Given the description of an element on the screen output the (x, y) to click on. 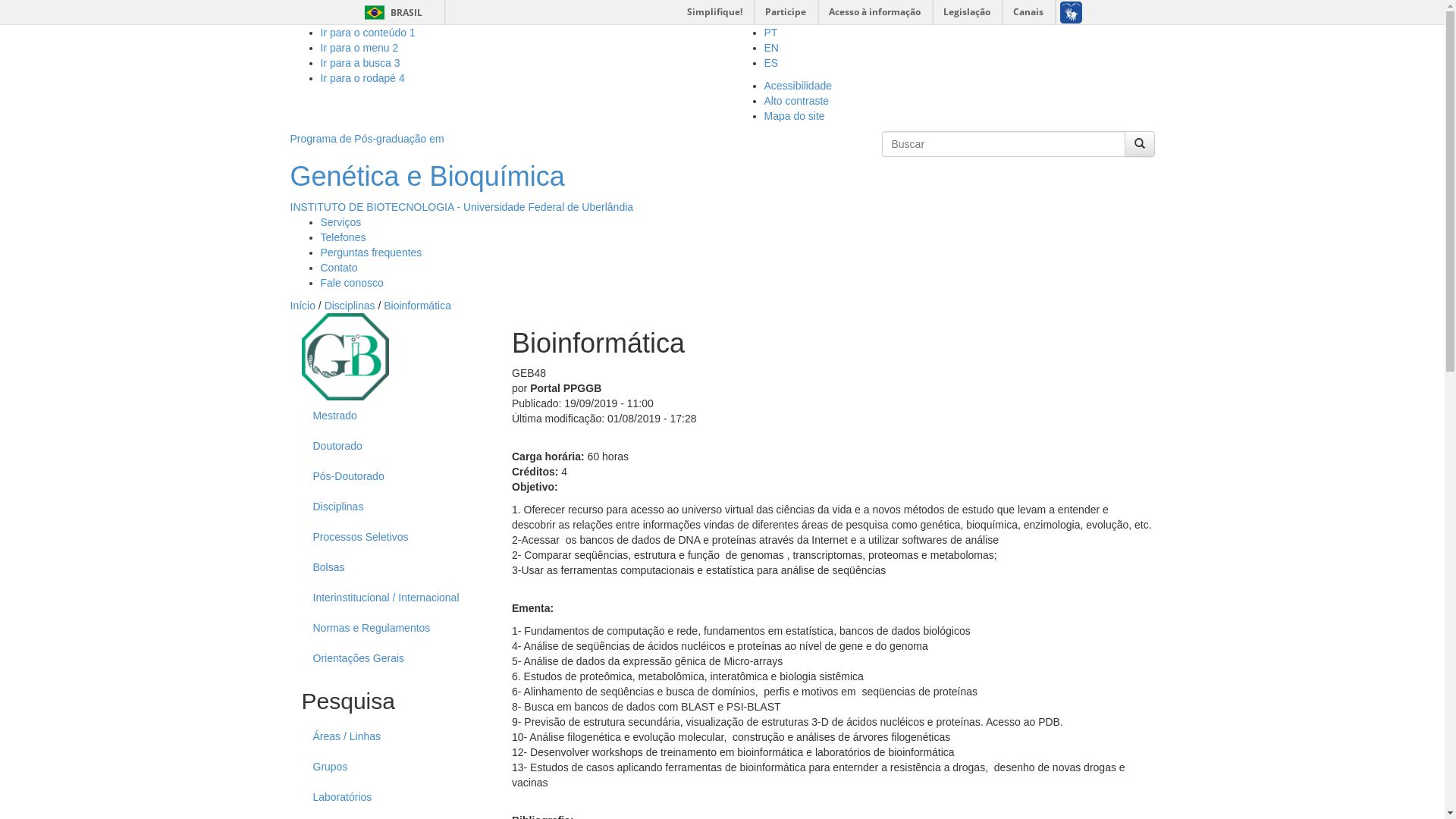
Grupos Element type: text (389, 766)
Ir para o menu 2 Element type: text (359, 47)
Doutorado Element type: text (389, 445)
Perguntas frequentes Element type: text (370, 252)
Alto contraste Element type: text (796, 100)
EN Element type: text (771, 47)
Fale conosco Element type: text (351, 282)
ES Element type: text (771, 62)
Normas e Regulamentos Element type: text (389, 627)
Buscar Element type: text (907, 161)
BRASIL Element type: text (373, 12)
Contato Element type: text (338, 267)
Disciplinas Element type: text (349, 305)
Bolsas Element type: text (389, 567)
PPGGB Element type: hover (345, 356)
Interinstitucional / Internacional Element type: text (389, 597)
Ir para a busca 3 Element type: text (359, 62)
Processos Seletivos Element type: text (389, 536)
Telefones Element type: text (342, 237)
Acessibilidade Element type: text (798, 85)
Mapa do site Element type: text (794, 115)
Disciplinas Element type: text (389, 506)
PT Element type: text (771, 32)
Mestrado Element type: text (389, 415)
